Given the description of an element on the screen output the (x, y) to click on. 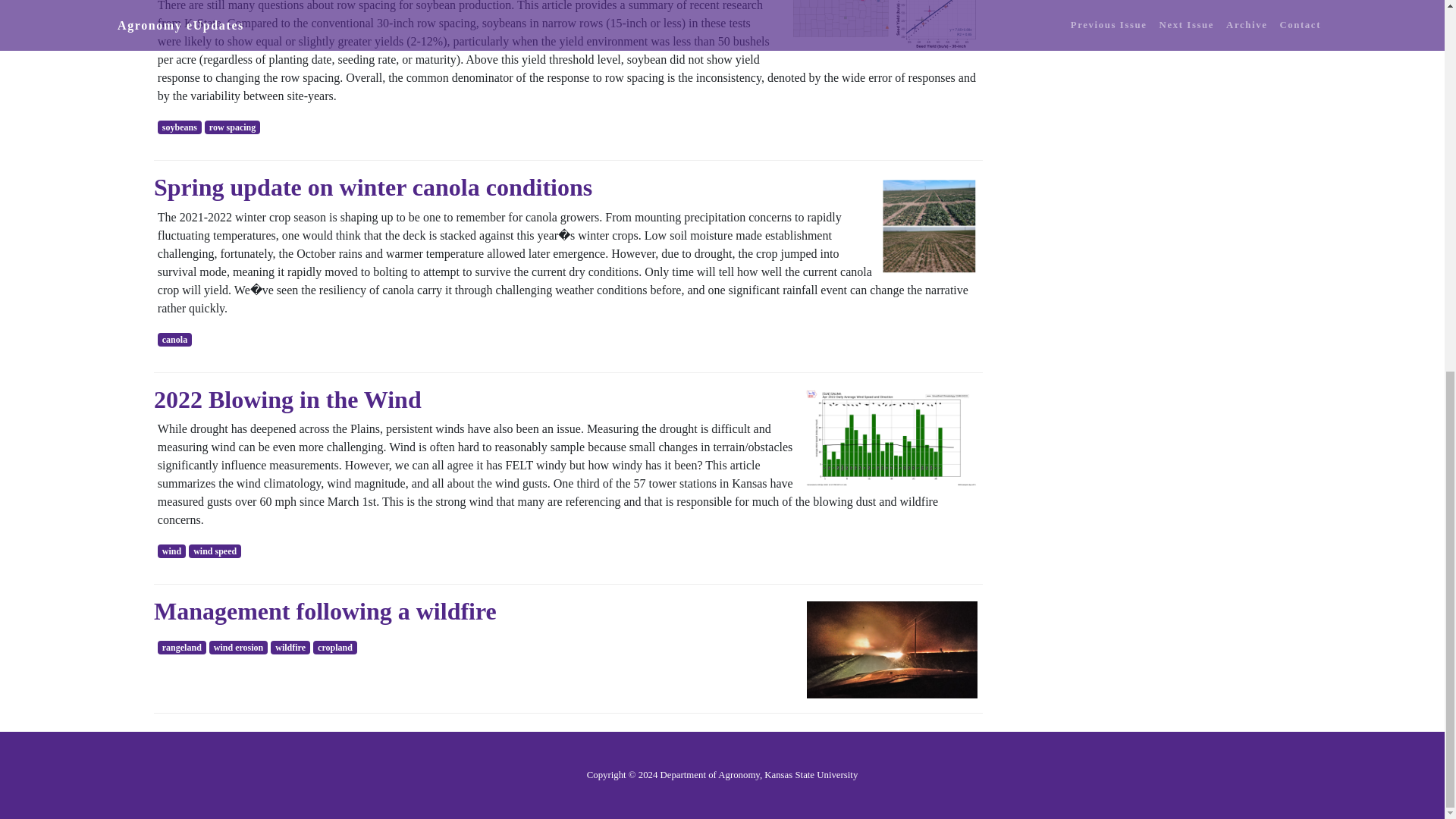
wind speed (215, 550)
soybeans (179, 127)
Spring update on winter canola conditions (373, 186)
2022 Blowing in the Wind (288, 399)
wind erosion (238, 647)
wind (171, 550)
cropland (334, 647)
rangeland (181, 647)
canola (174, 339)
wildfire (290, 647)
